Given the description of an element on the screen output the (x, y) to click on. 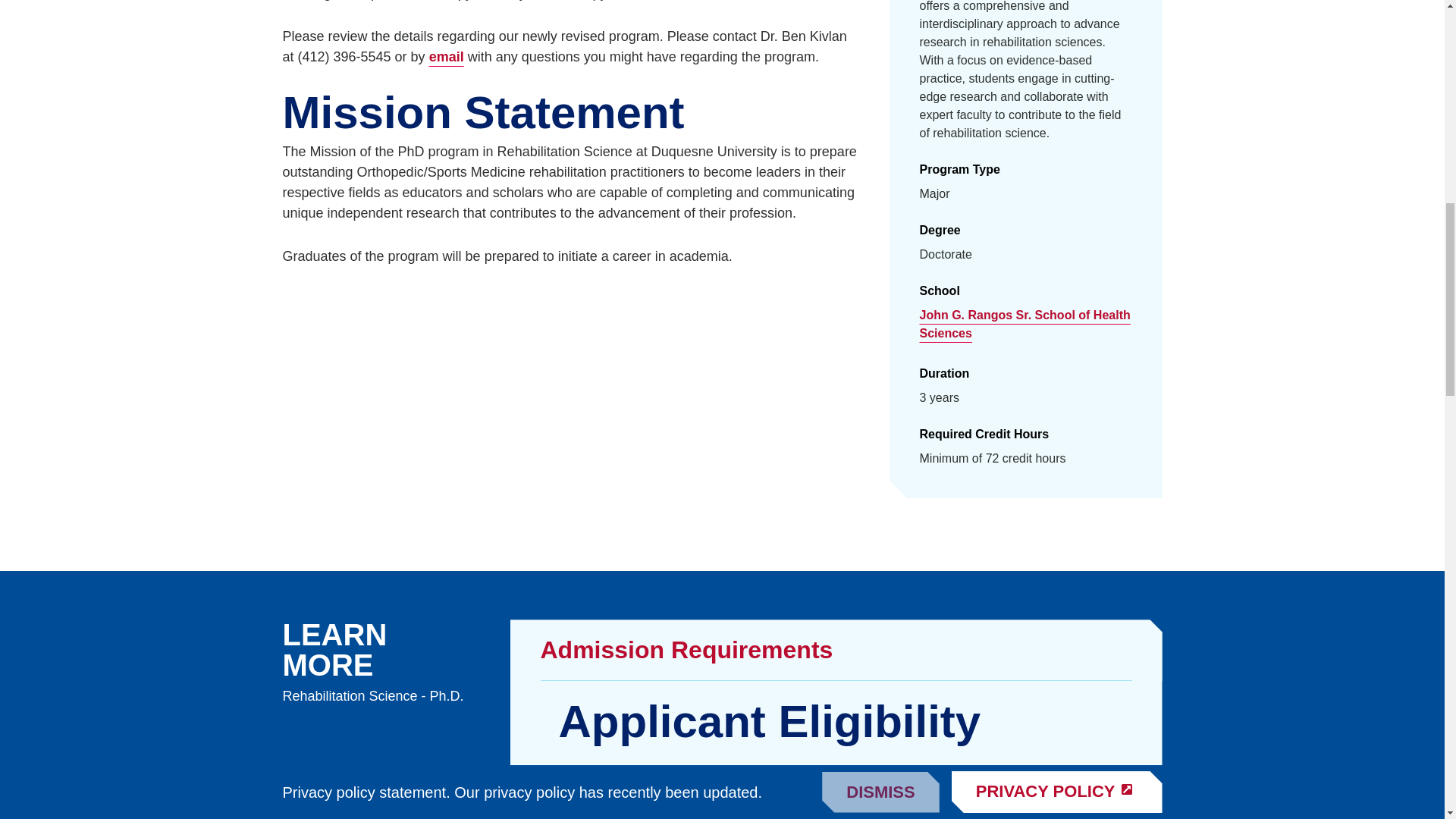
PRIVACY POLICY (1056, 26)
DISMISS (880, 25)
